Given the description of an element on the screen output the (x, y) to click on. 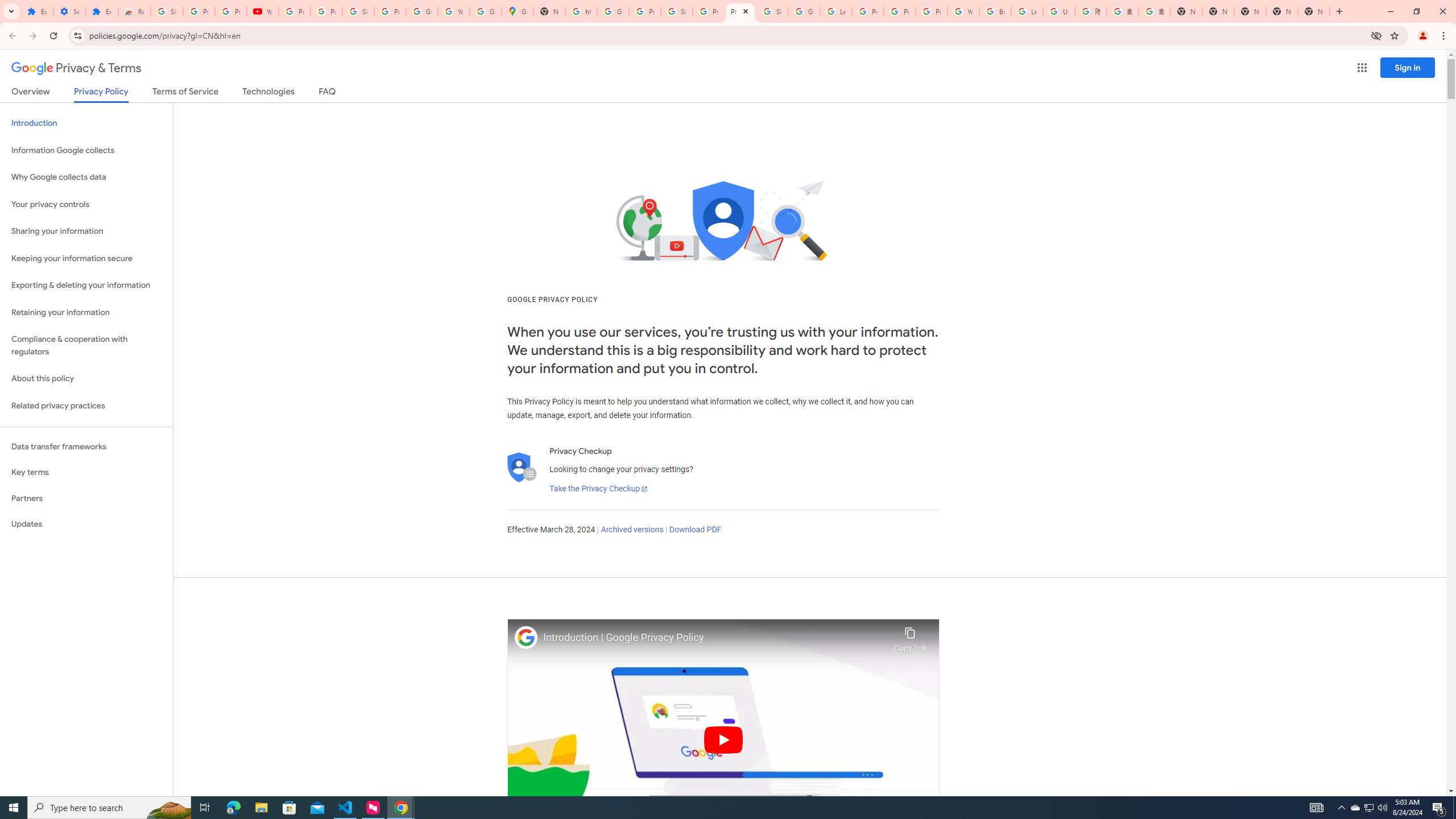
Extensions (37, 11)
YouTube (262, 11)
